Given the description of an element on the screen output the (x, y) to click on. 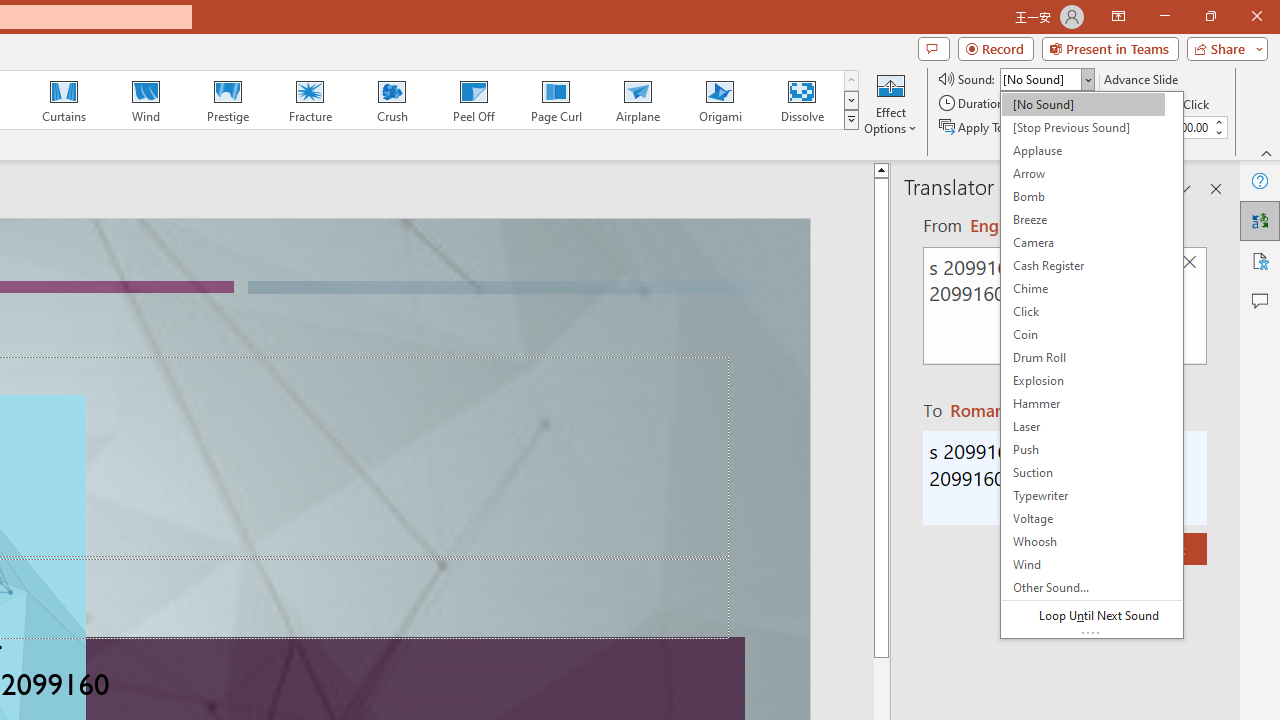
Sound: (1091, 364)
Airplane (637, 100)
Wind (145, 100)
Transition Effects (850, 120)
Less (1218, 132)
Effect Options (890, 102)
Peel Off (473, 100)
Fracture (309, 100)
Curtains (63, 100)
Dissolve (802, 100)
